Given the description of an element on the screen output the (x, y) to click on. 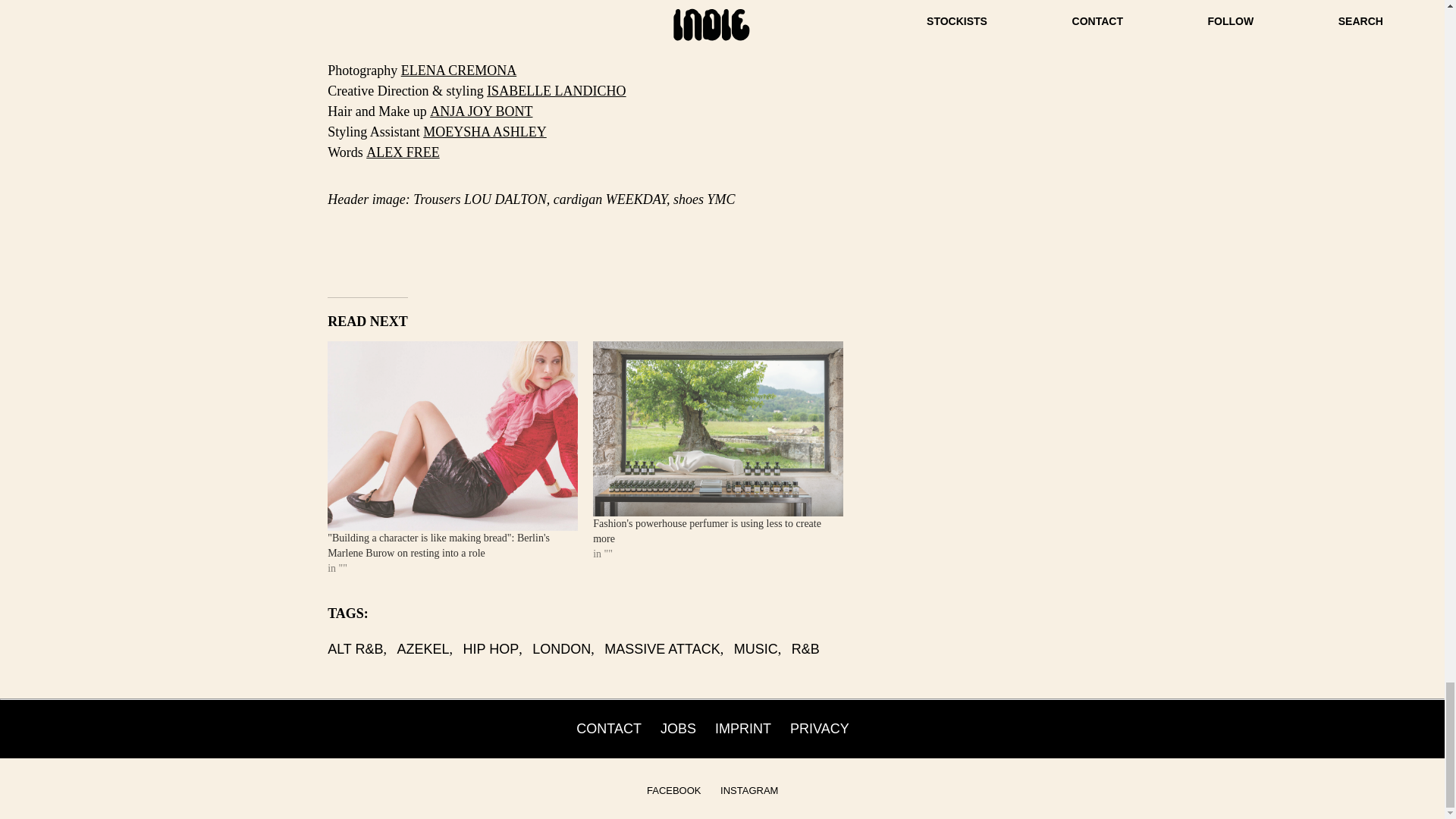
ANJA JOY BONT (480, 111)
HIP HOP (491, 648)
MUSIC (755, 648)
Page 3 (721, 246)
ISABELLE LANDICHO (556, 90)
AZEKEL (423, 648)
INSTAGRAM (748, 790)
LONDON (561, 648)
Fashion's powerhouse perfumer is using less to create more (706, 530)
ALEX FREE (402, 151)
FACEBOOK (673, 790)
CONTACT (609, 728)
PRIVACY (819, 728)
MASSIVE ATTACK (661, 648)
